Given the description of an element on the screen output the (x, y) to click on. 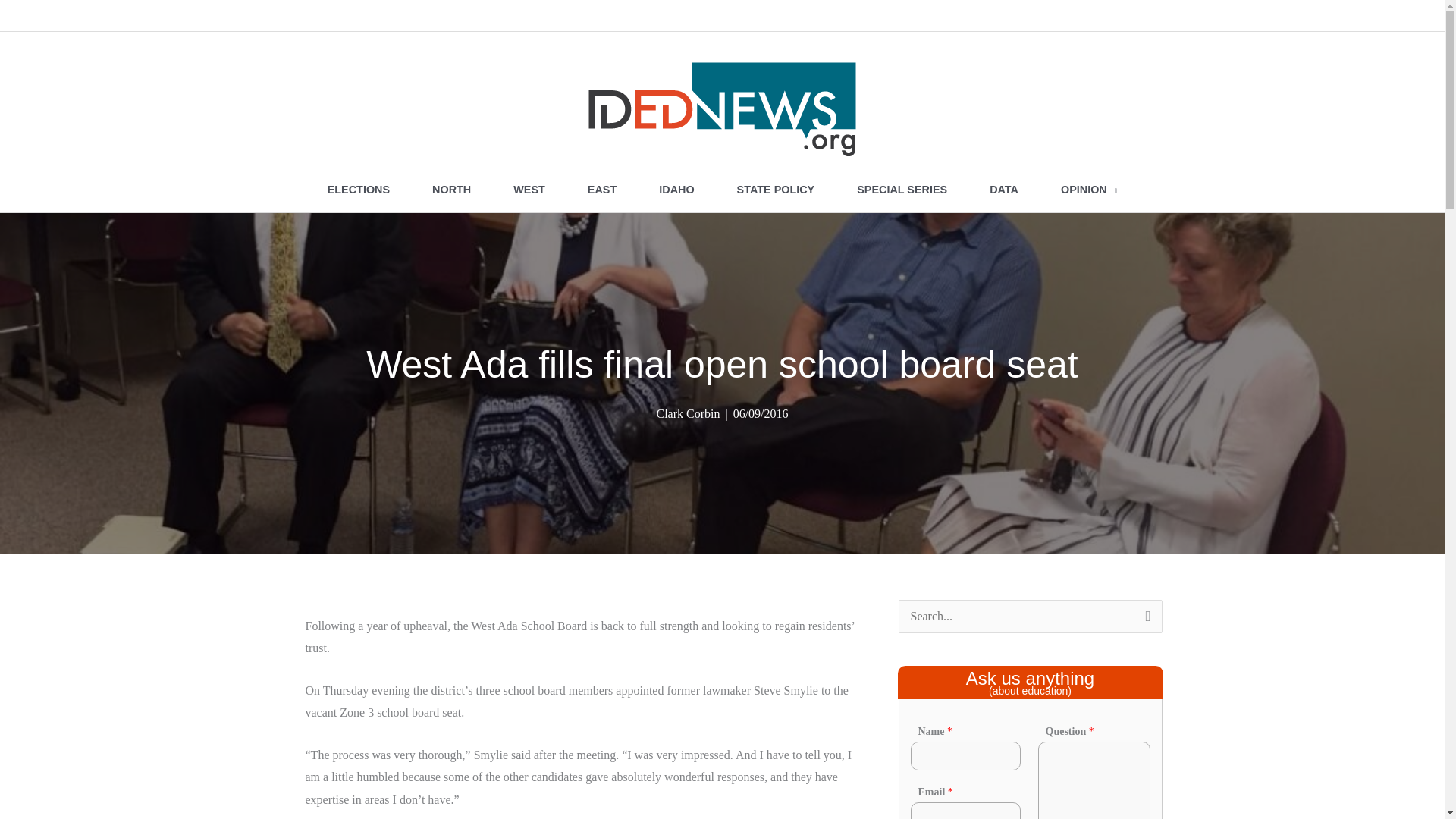
Clark Corbin (687, 413)
IDAHO (675, 190)
OPINION (1088, 190)
ELECTIONS (357, 190)
DATA (1003, 190)
EAST (601, 190)
STATE POLICY (775, 190)
SPECIAL SERIES (901, 190)
WEST (529, 190)
NORTH (451, 190)
